Given the description of an element on the screen output the (x, y) to click on. 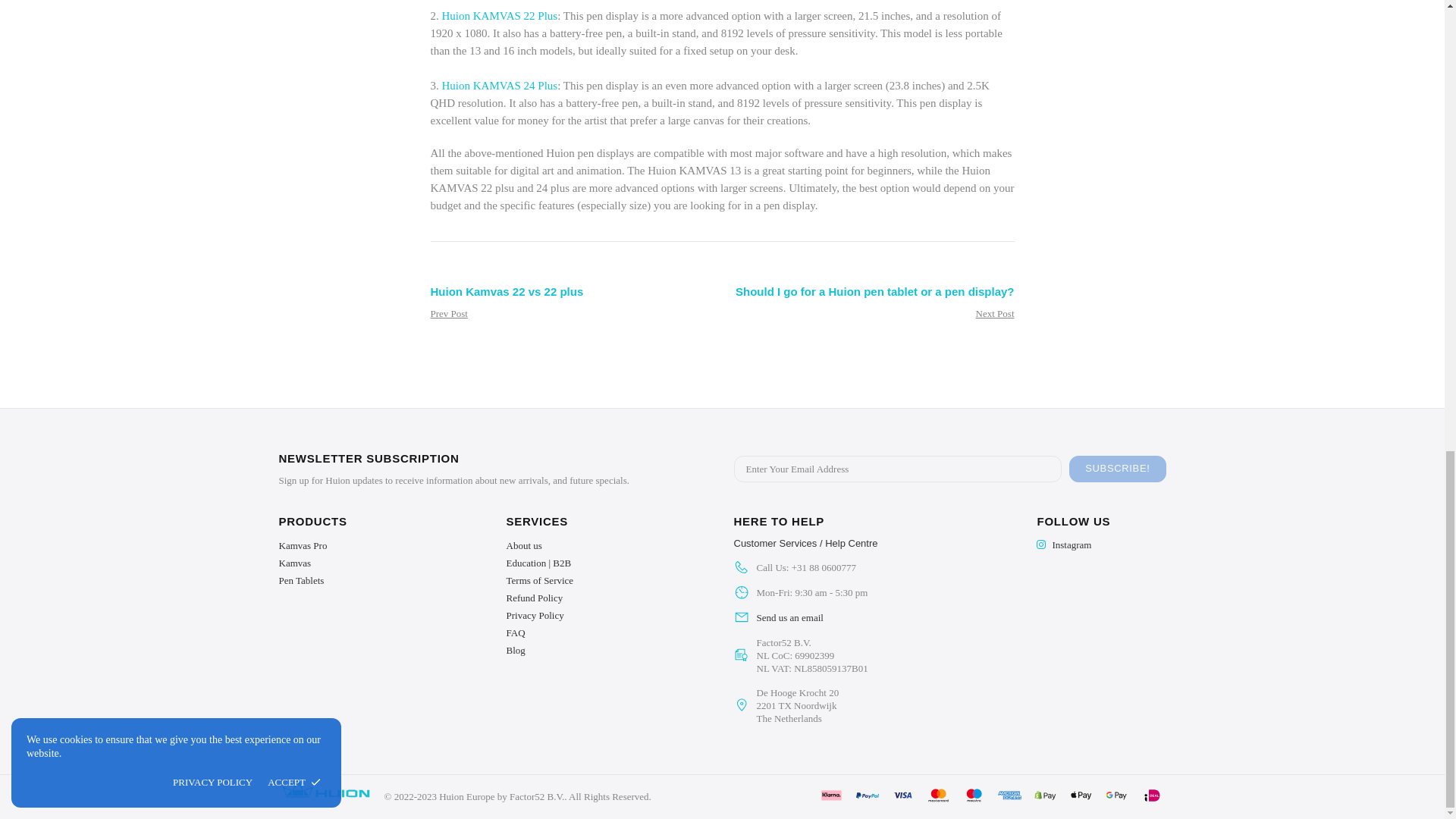
Huion Europe Support (805, 543)
SUBSCRIBE! (1117, 468)
